Given the description of an element on the screen output the (x, y) to click on. 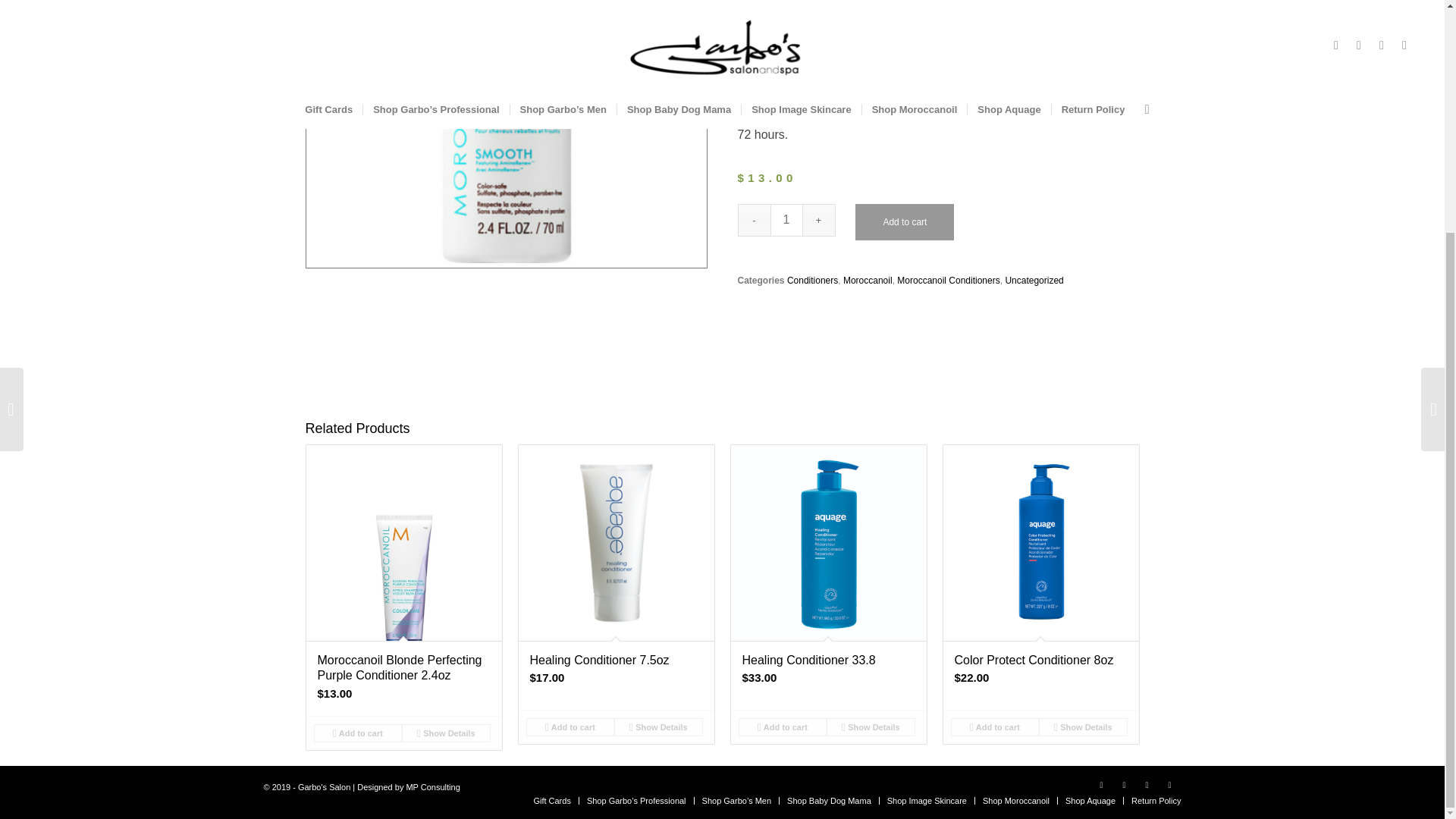
Add to cart (904, 221)
Mail (1146, 784)
Moroccanoil (867, 280)
Pinterest (1169, 784)
Show Details (871, 727)
Moroccanoil Conditioners (947, 280)
- (753, 219)
Show Details (445, 732)
Add to cart (358, 732)
Uncategorized (1033, 280)
Moroccanoil-smoothing-conditioner-2-4-oz-70-ml-800x800 (505, 134)
1 (786, 219)
Add to cart (782, 727)
Conditioners (812, 280)
Facebook (1101, 784)
